Given the description of an element on the screen output the (x, y) to click on. 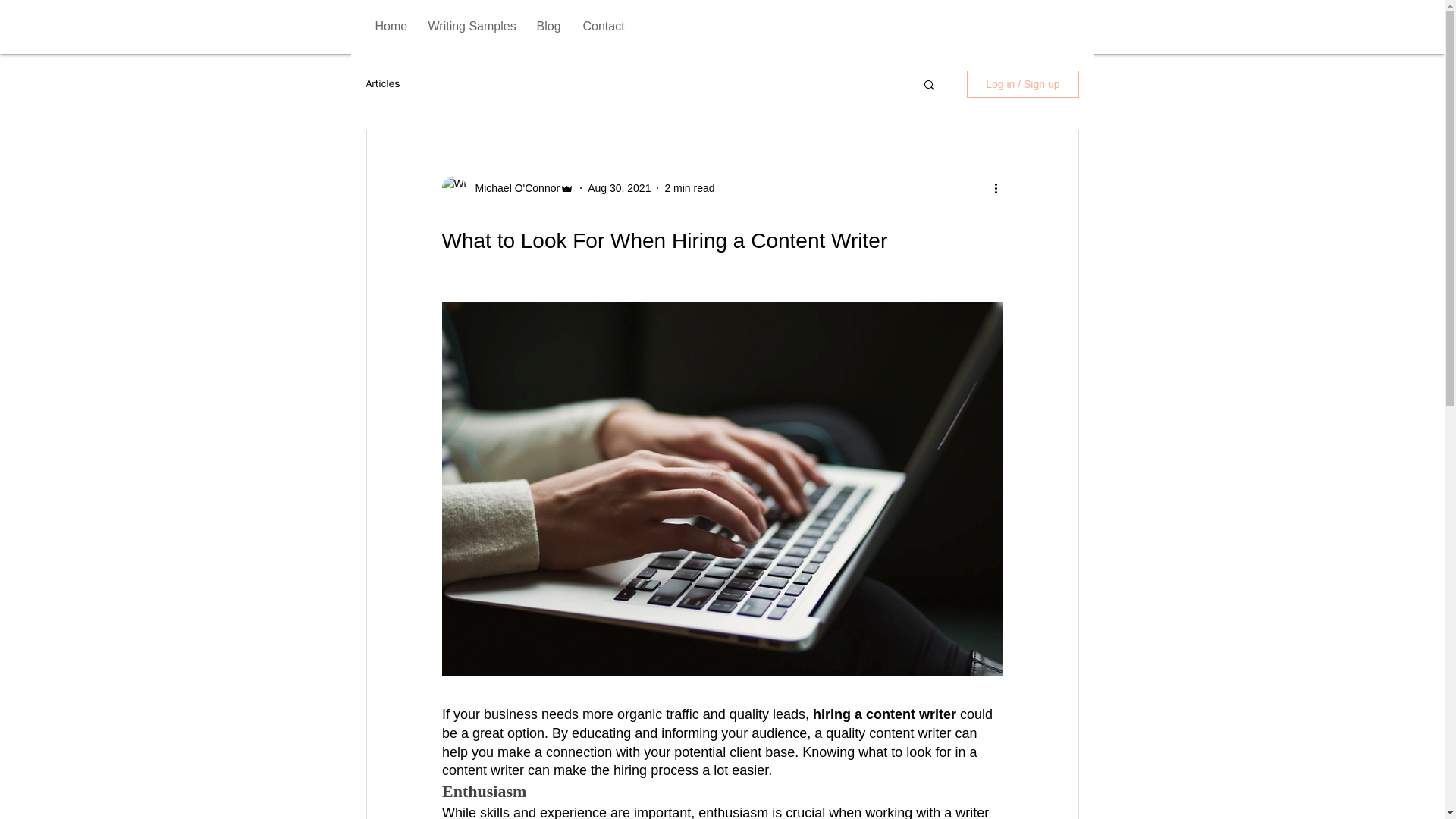
Articles (381, 83)
Aug 30, 2021 (619, 187)
Home (390, 26)
2 min read (688, 187)
Michael O'Connor (512, 188)
Contact (603, 26)
Blog (547, 26)
Writing Samples (470, 26)
